Given the description of an element on the screen output the (x, y) to click on. 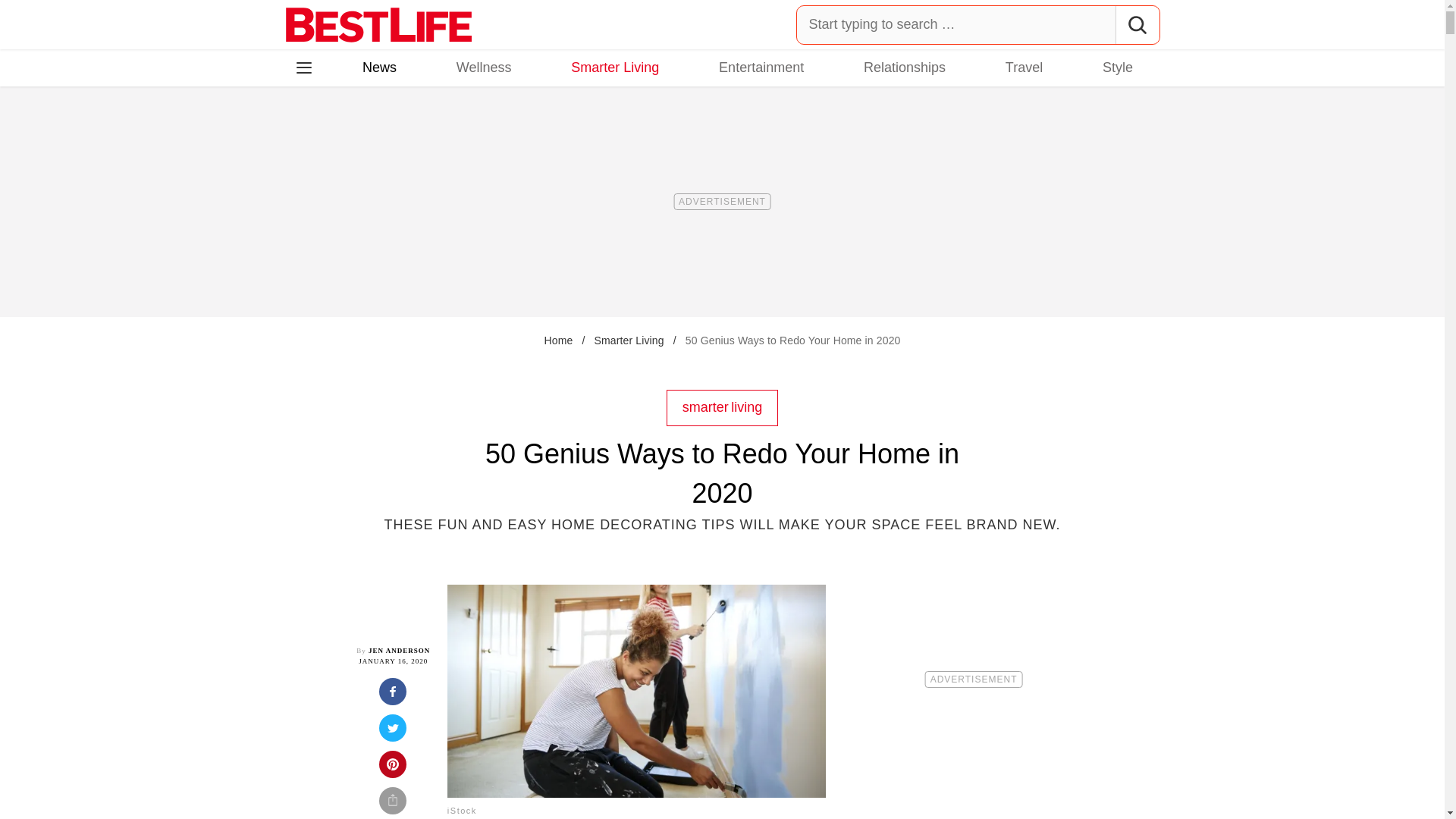
Type and press Enter to search (978, 24)
News (379, 66)
Wellness (483, 66)
Facebook (314, 133)
JEN ANDERSON (398, 650)
Facebook (314, 133)
Share via email (392, 803)
smarter living (722, 406)
Share on Twitter (392, 732)
Entertainment (761, 66)
Home (557, 340)
Instagram (357, 133)
Share on Pinterest (392, 769)
Style (1117, 66)
Smarter Living (628, 340)
